Given the description of an element on the screen output the (x, y) to click on. 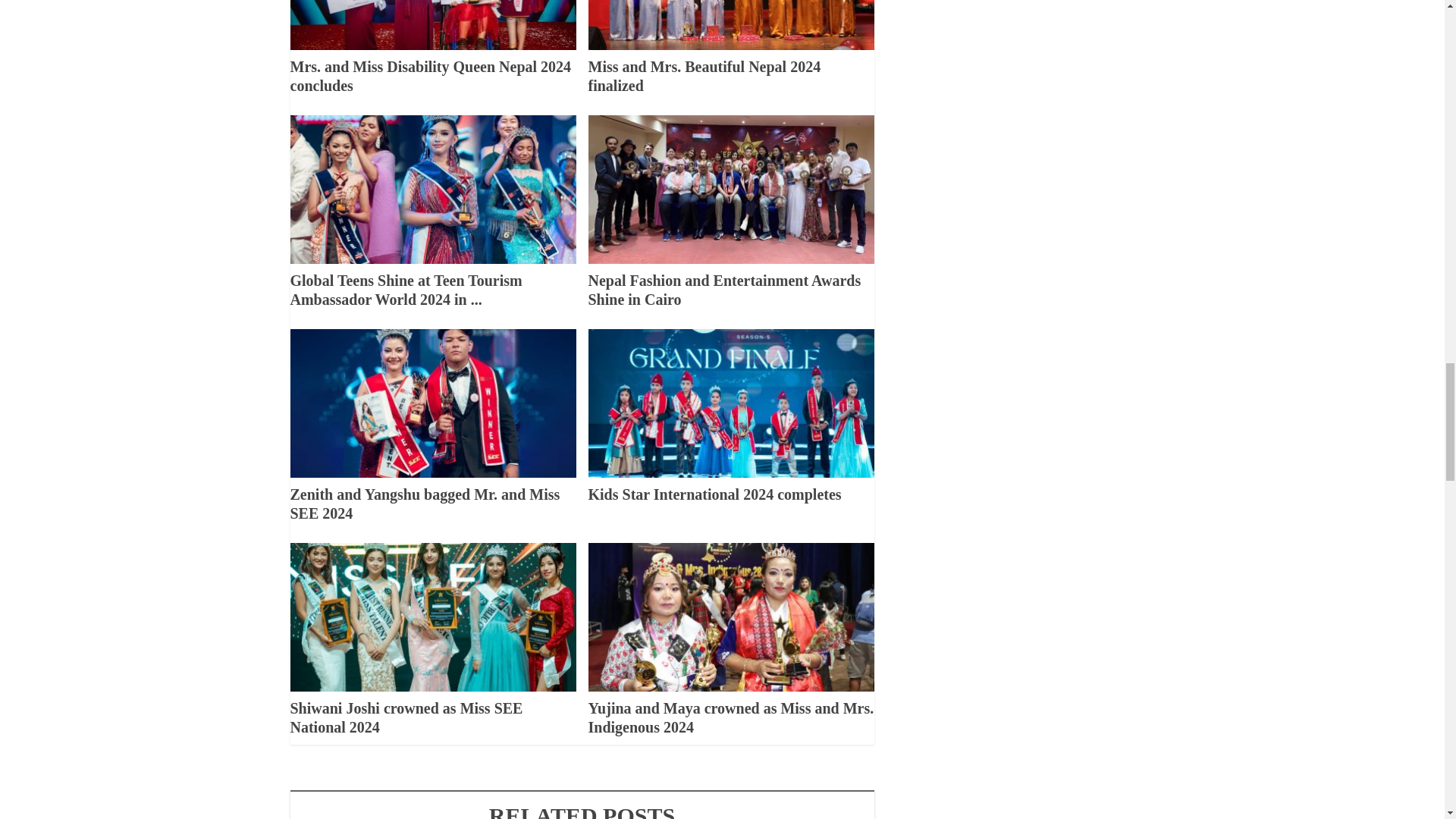
Miss and Mrs. Beautiful Nepal 2024 finalized (704, 76)
Mrs. and Miss Disability Queen Nepal 2024 concludes (429, 76)
